Given the description of an element on the screen output the (x, y) to click on. 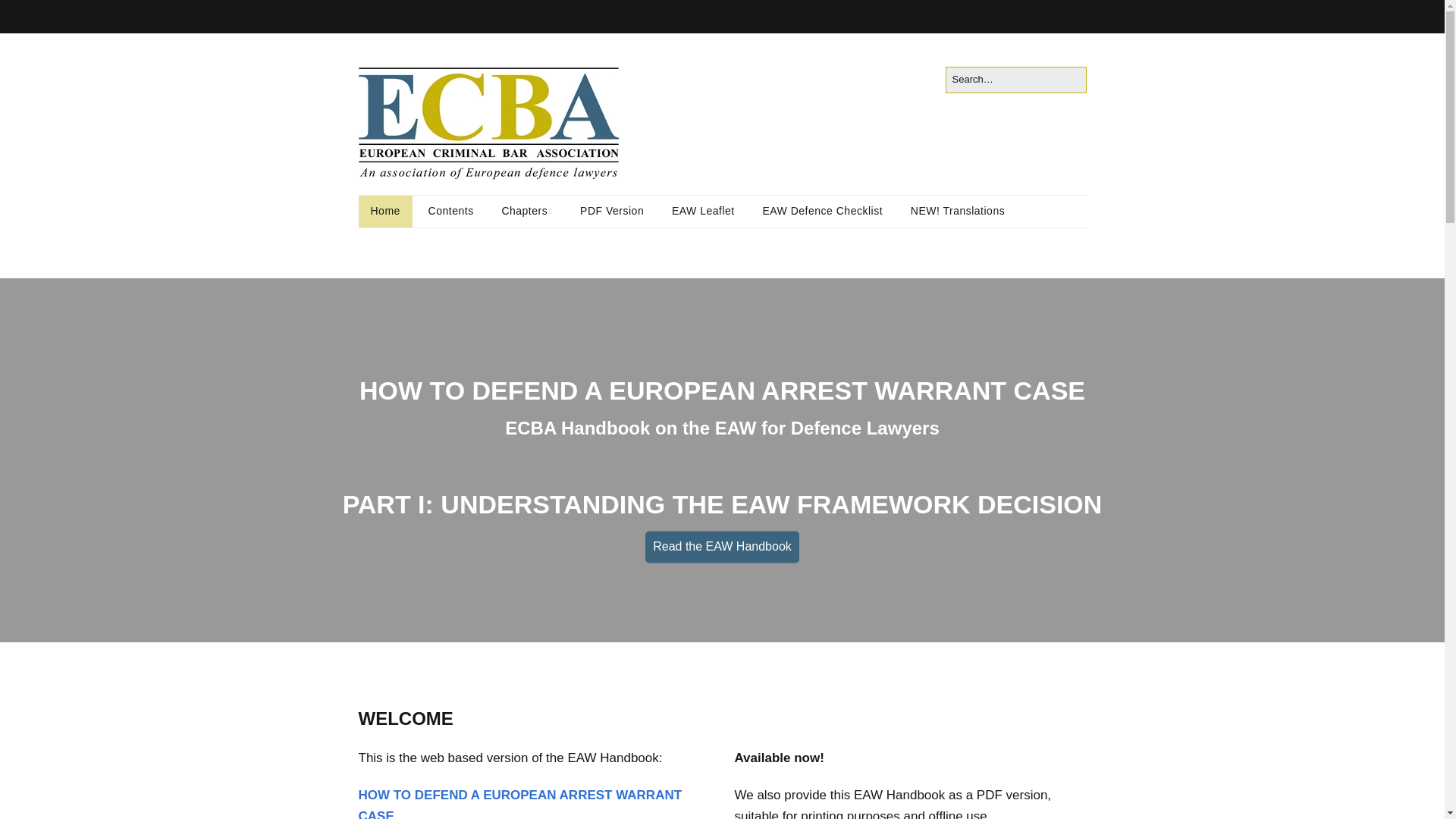
Press Enter to submit your search (1015, 79)
HOW TO DEFEND A EUROPEAN ARREST WARRANT CASE (519, 803)
Search (29, 15)
NEW! Translations (957, 211)
Chapters (526, 211)
Home (385, 211)
EAW Leaflet (702, 211)
EAW Defence Checklist (822, 211)
PDF Version (611, 211)
Contents (451, 211)
